Given the description of an element on the screen output the (x, y) to click on. 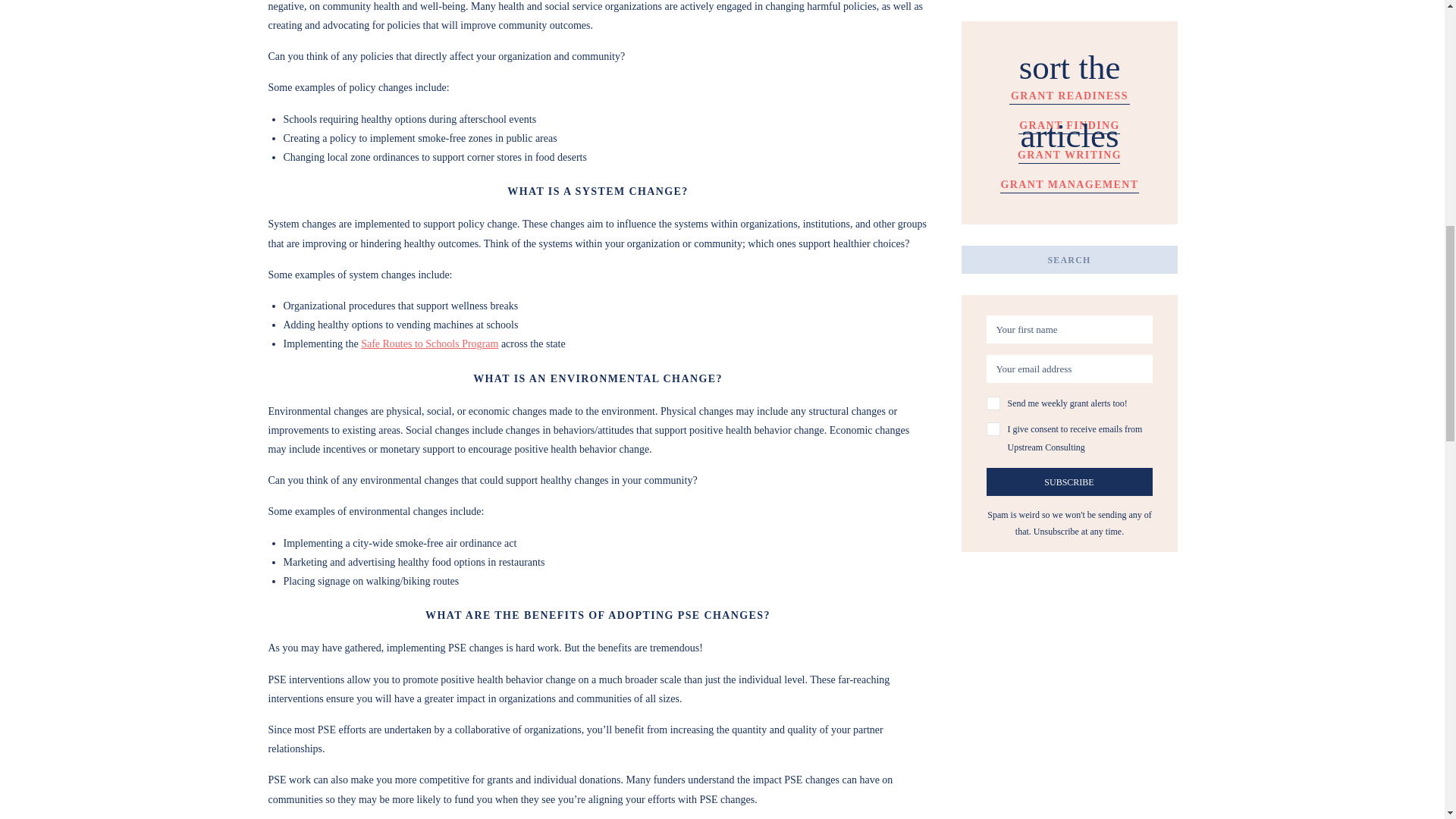
GRANT MANAGEMENT (1069, 182)
SUBSCRIBE (1068, 481)
GRANT FINDING (1069, 123)
GRANT WRITING (1069, 152)
Safe Routes to Schools Program (429, 343)
GRANT READINESS (1069, 93)
